Given the description of an element on the screen output the (x, y) to click on. 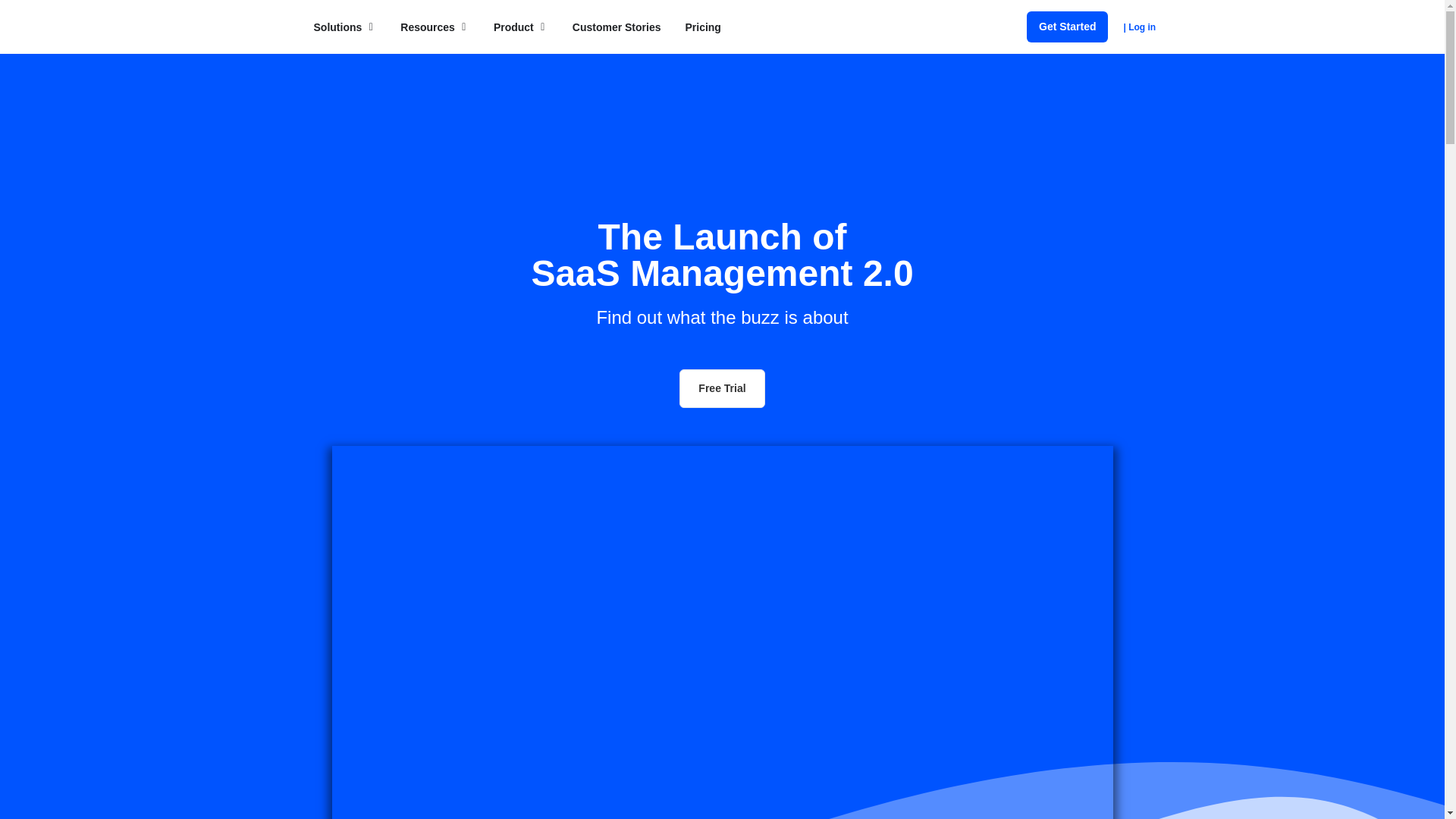
Pricing (702, 26)
Customer Stories (616, 26)
